Given the description of an element on the screen output the (x, y) to click on. 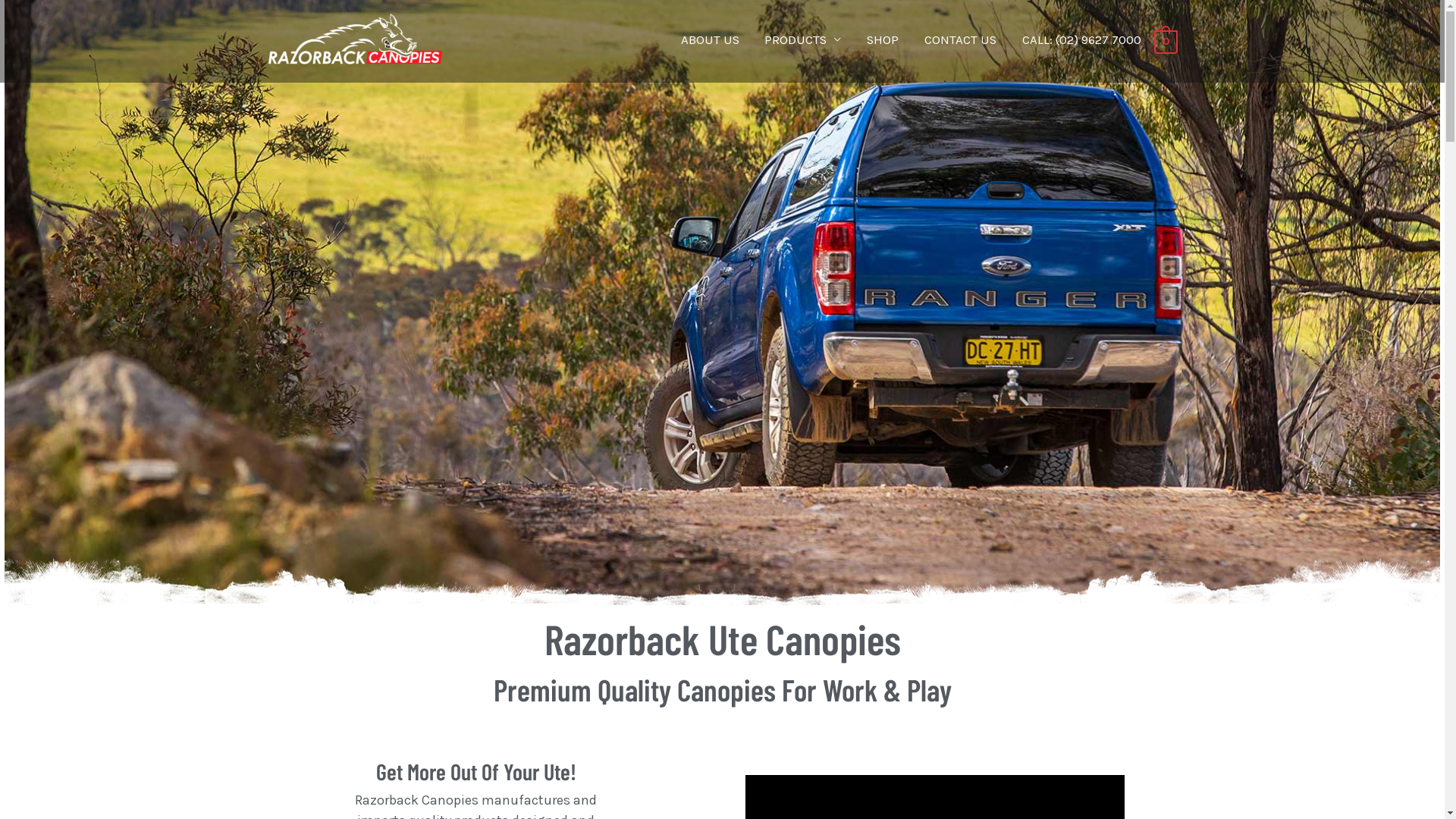
PRODUCTS Element type: text (803, 39)
0 Element type: text (1165, 40)
CALL: (02) 9627 7000 Element type: text (1081, 39)
ABOUT US Element type: text (710, 39)
SHOP Element type: text (882, 39)
CONTACT US Element type: text (960, 39)
